Given the description of an element on the screen output the (x, y) to click on. 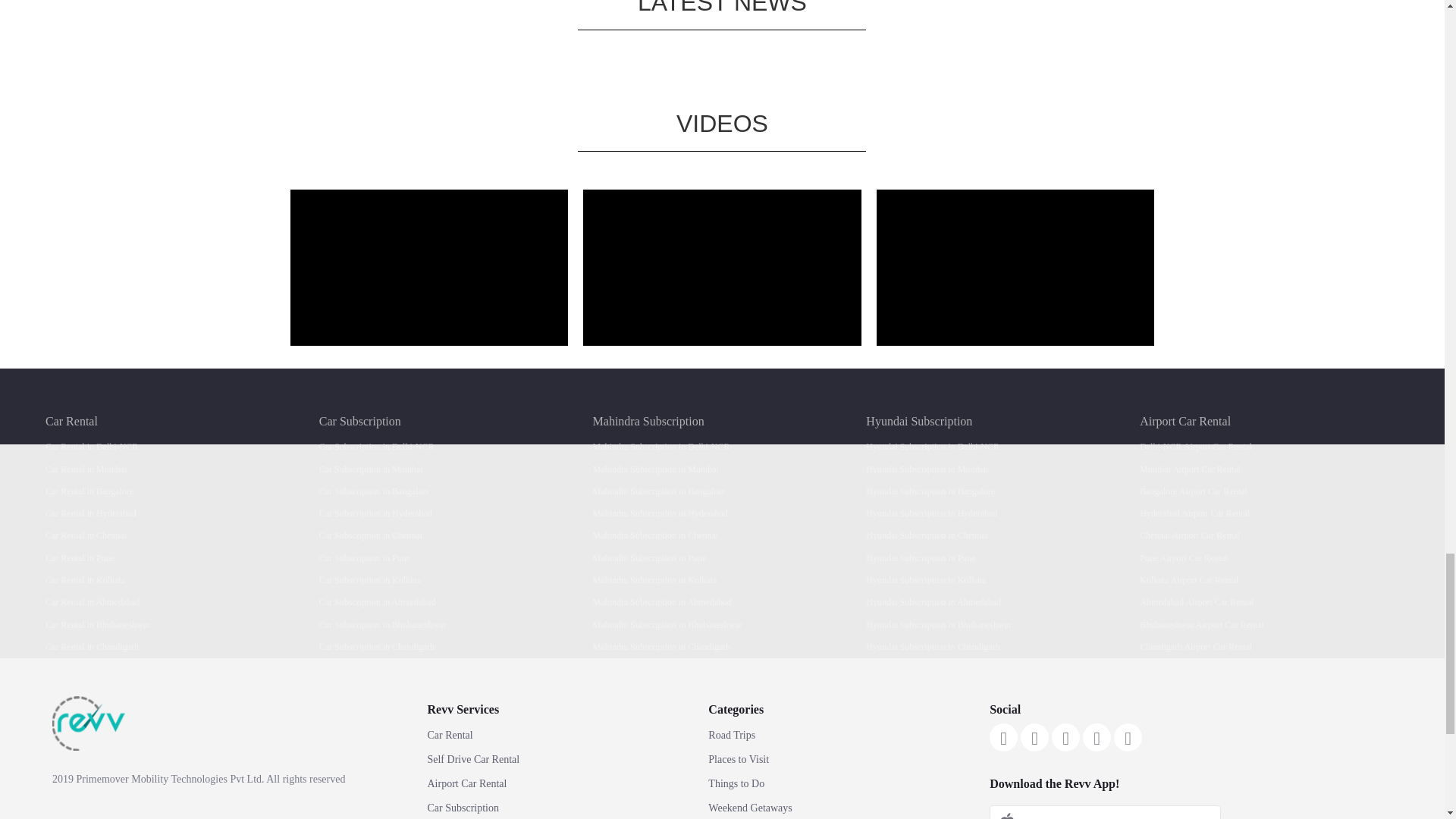
youtube Video Player (428, 267)
youtube Video Player (1015, 267)
youtube Video Player (722, 267)
